Given the description of an element on the screen output the (x, y) to click on. 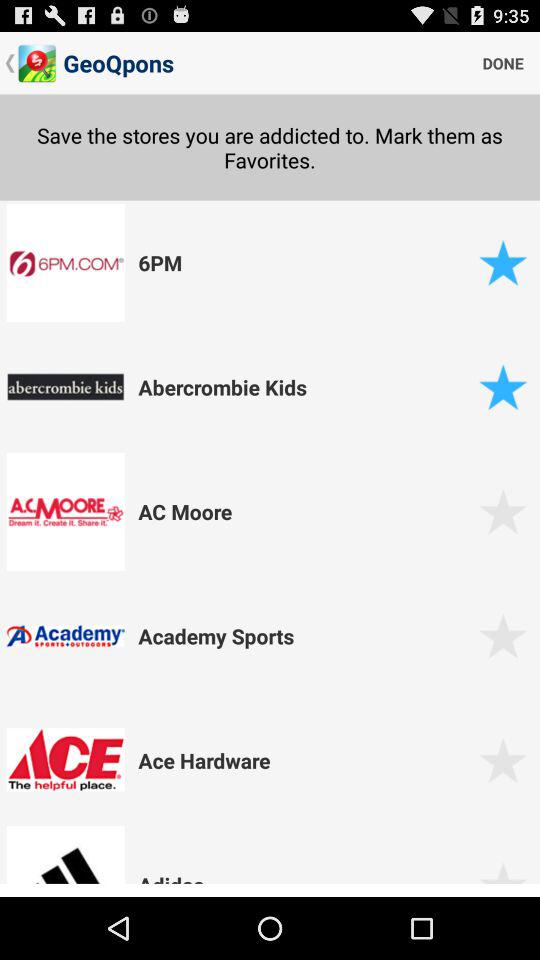
toggle favourite (502, 262)
